Given the description of an element on the screen output the (x, y) to click on. 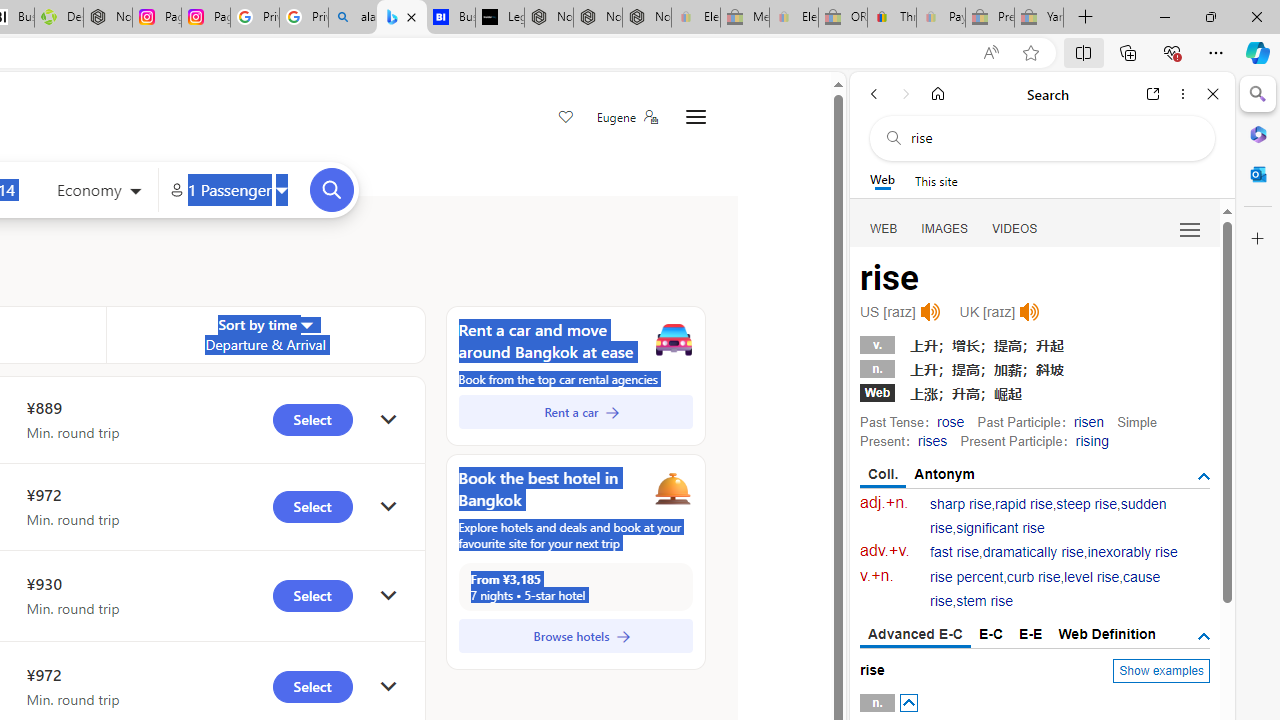
risen (1088, 421)
